Given the description of an element on the screen output the (x, y) to click on. 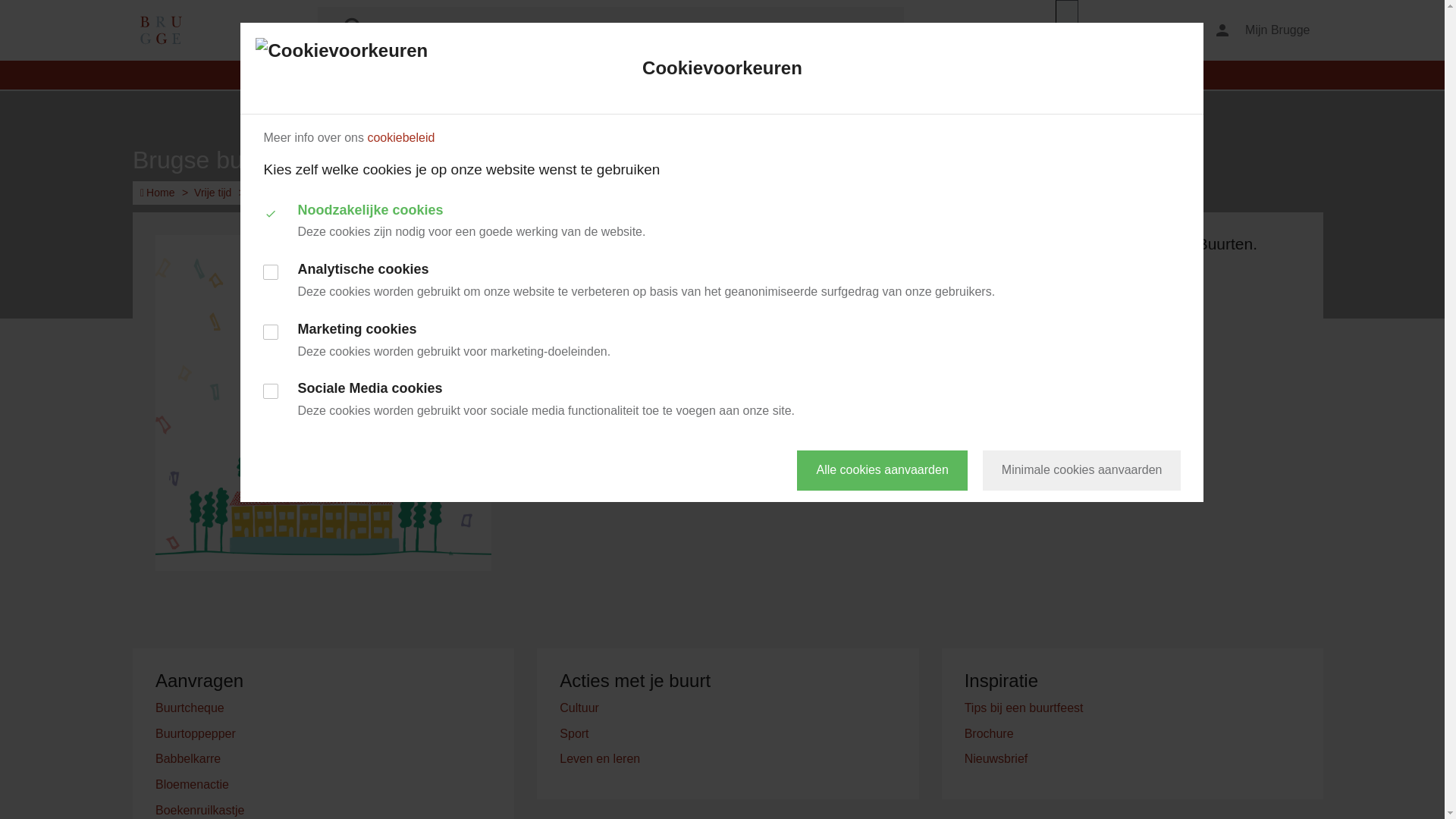
Buurtcheque Element type: text (189, 707)
WELZIJN & ZORG Element type: text (937, 74)
LEVEN & MOBILITEIT Element type: text (454, 74)
Bekijk de openingsuren Element type: text (1027, 303)
Sport Element type: text (573, 733)
webReader menu Element type: hover (1066, 30)
cookiebeleid Element type: text (400, 137)
Alle cookies aanvaarden Element type: text (881, 470)
Minimale cookies aanvaarden Element type: text (1081, 470)
brugsebuurten@brugge.be Element type: text (1117, 285)
Leven en leren Element type: text (599, 758)
Home Element type: text (157, 192)
WERK & ONDERNEMEN Element type: text (807, 74)
Lees voor Element type: text (1123, 30)
VRIJE TIJD Element type: text (694, 74)
Bekijk de brochure Element type: text (1029, 385)
Boekenruilkastje Element type: text (199, 809)
Babbelkarre Element type: text (187, 758)
050 44 82 22 Element type: text (999, 285)
BESTUUR Element type: text (1030, 74)
Bloemenactie Element type: text (192, 784)
Tips bij een buurtfeest Element type: text (1023, 707)
Brochure Element type: text (988, 733)
Volg ons op facebook Element type: hover (1040, 329)
Vrije tijd Element type: text (212, 192)
WONEN & OMGEVING Element type: text (587, 74)
Buurtoppepper Element type: text (195, 733)
Ga naar de startpagina Element type: hover (160, 30)
Cultuur Element type: text (579, 707)
Nieuwsbrief Element type: text (996, 758)
